Given the description of an element on the screen output the (x, y) to click on. 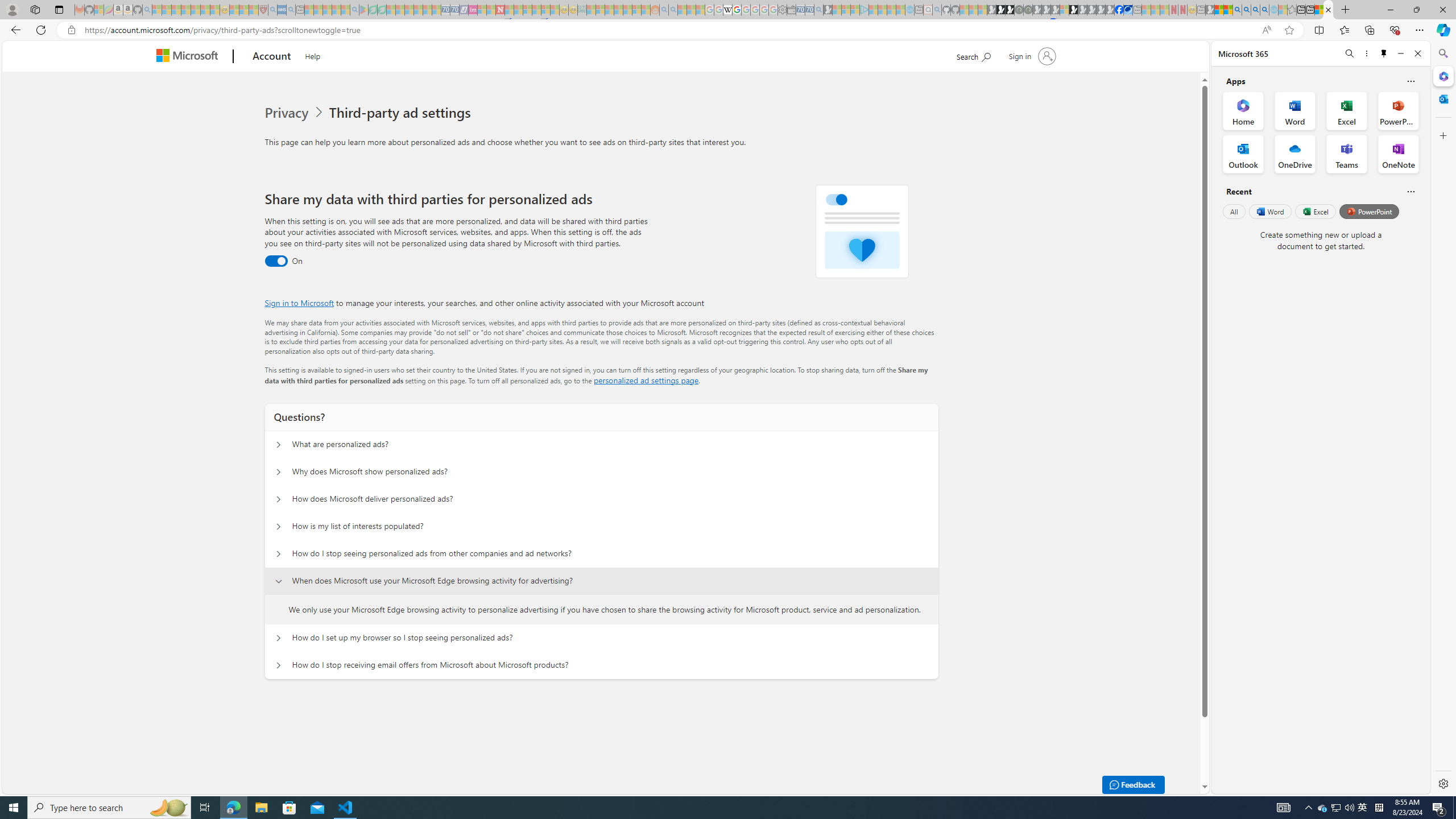
Excel Office App (1346, 110)
The Weather Channel - MSN - Sleeping (175, 9)
